Given the description of an element on the screen output the (x, y) to click on. 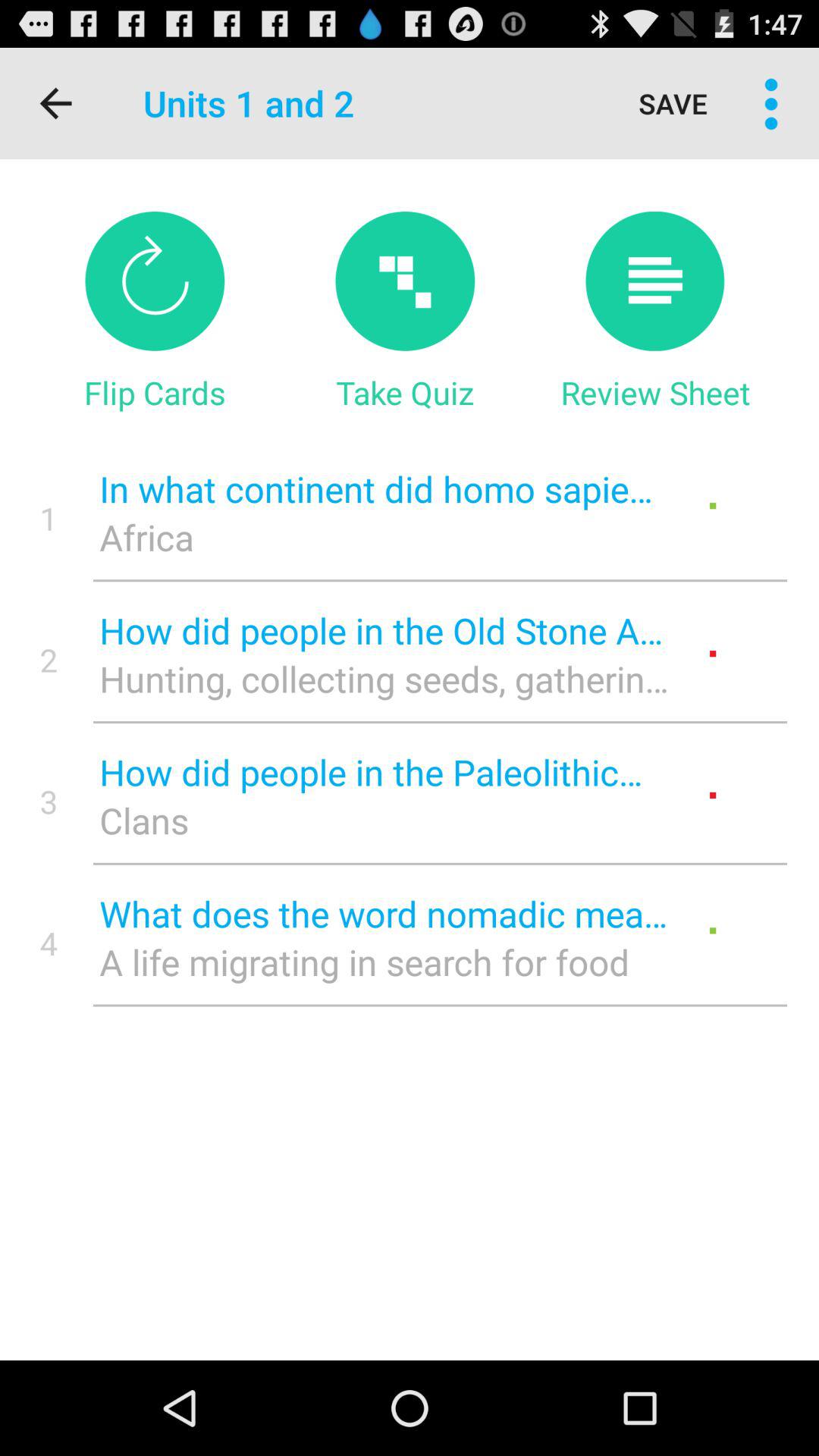
go to review sheet (655, 280)
